Given the description of an element on the screen output the (x, y) to click on. 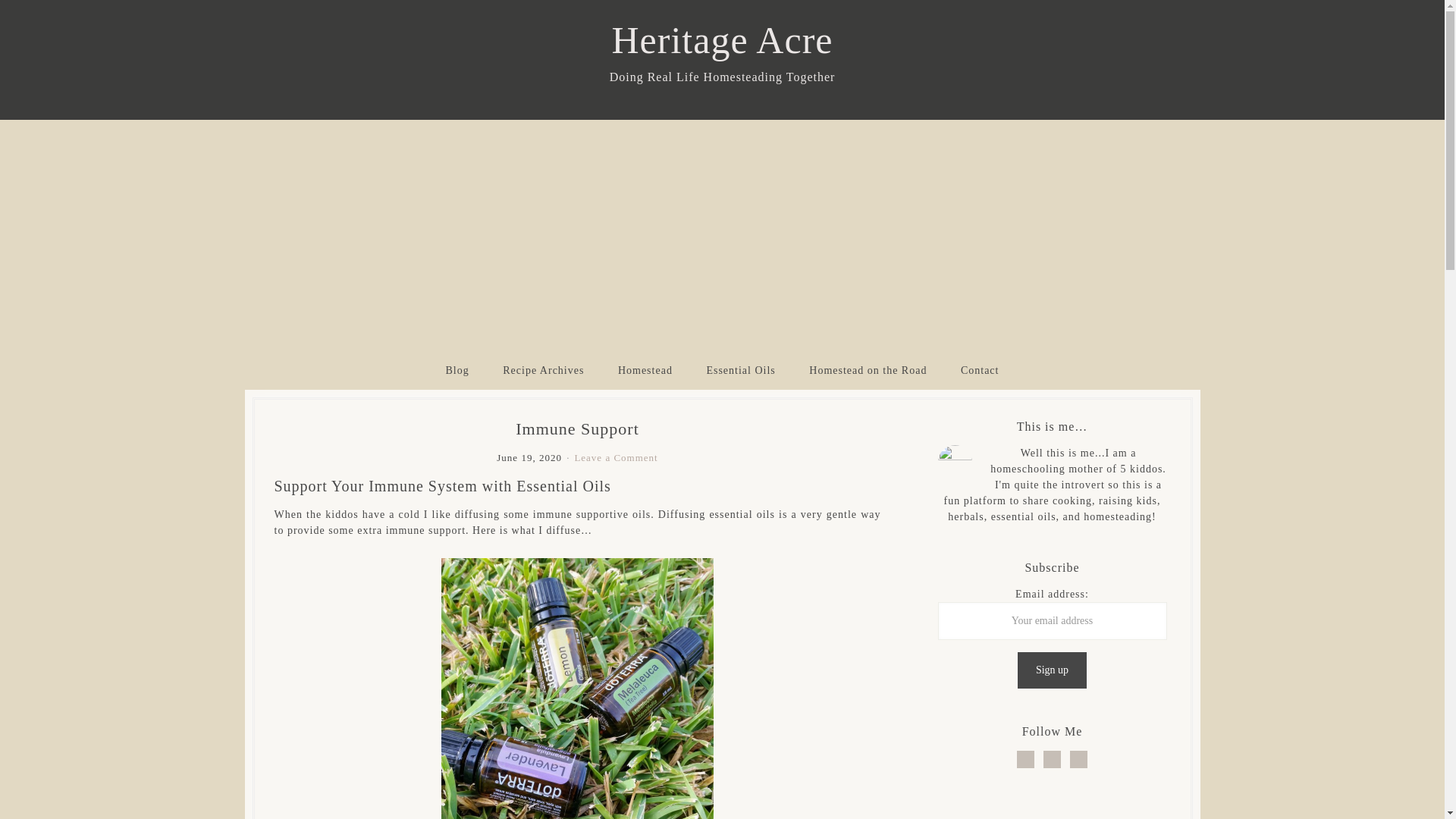
Sign up (1051, 669)
Leave a Comment (615, 457)
Essential Oils (740, 369)
Heritage Acre (721, 39)
Blog (457, 369)
Homestead (644, 369)
Contact (979, 369)
Homestead on the Road (867, 369)
Recipe Archives (542, 369)
